Given the description of an element on the screen output the (x, y) to click on. 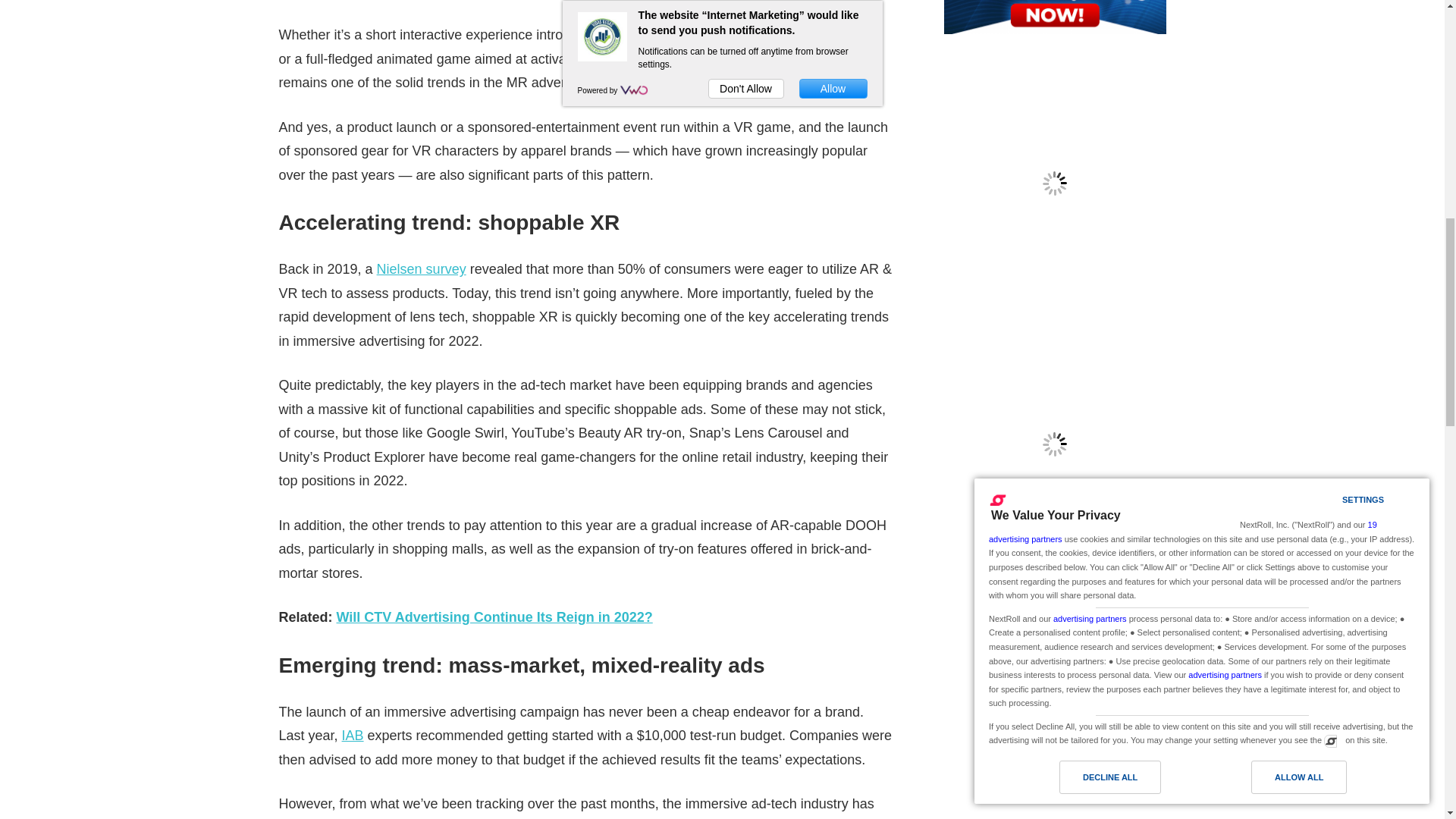
IAB (353, 735)
Nielsen survey (421, 268)
Will CTV Advertising Continue Its Reign in 2022? (494, 616)
